Given the description of an element on the screen output the (x, y) to click on. 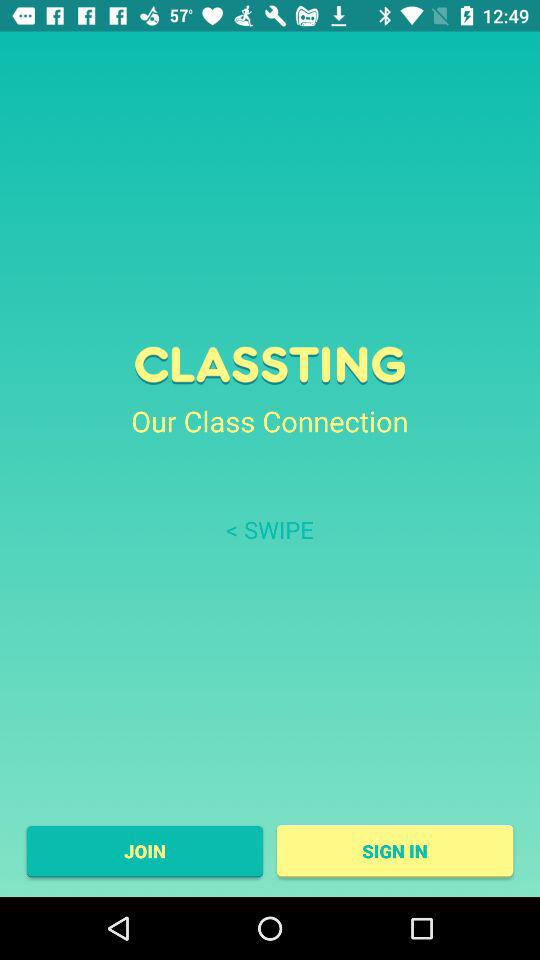
press item to the left of sign in icon (144, 851)
